Given the description of an element on the screen output the (x, y) to click on. 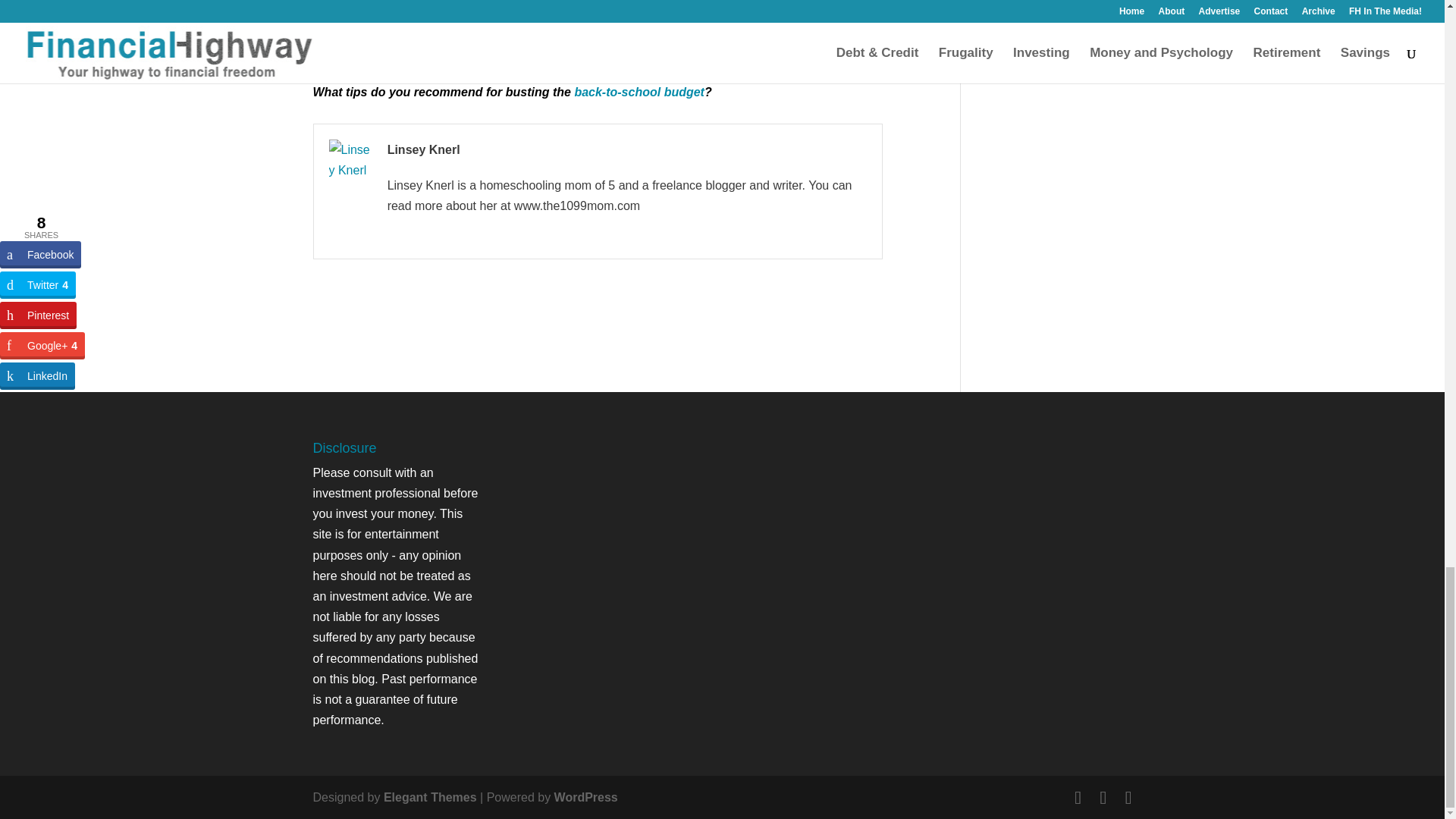
back-to-school budget (638, 91)
WordPress (585, 797)
Elegant Themes (430, 797)
Premium WordPress Themes (430, 797)
